Given the description of an element on the screen output the (x, y) to click on. 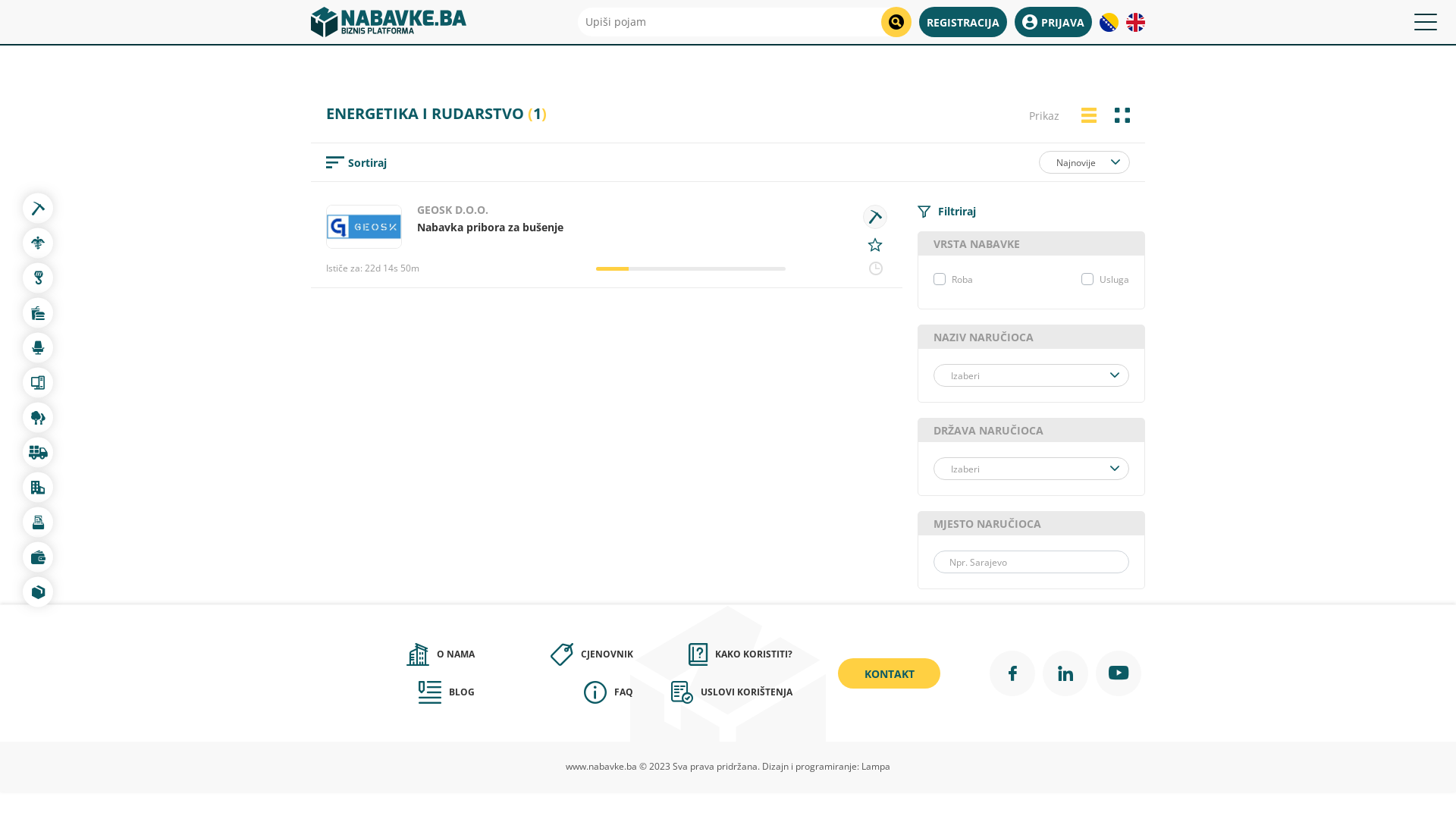
FAQ Element type: text (553, 691)
O NAMA Element type: text (394, 654)
nabavke.ba Element type: hover (388, 21)
REGISTRACIJA Element type: text (963, 21)
CJENOVNIK Element type: text (553, 654)
BLOG Element type: text (394, 691)
GEOSK D.O.O. Element type: text (452, 209)
KAKO KORISTITI? Element type: text (712, 654)
PRIJAVA Element type: text (1053, 21)
Dizajn i programiranje: Lampa Element type: text (826, 765)
Energetika i rudarstvo Element type: hover (874, 216)
KONTAKT Element type: text (888, 673)
